Given the description of an element on the screen output the (x, y) to click on. 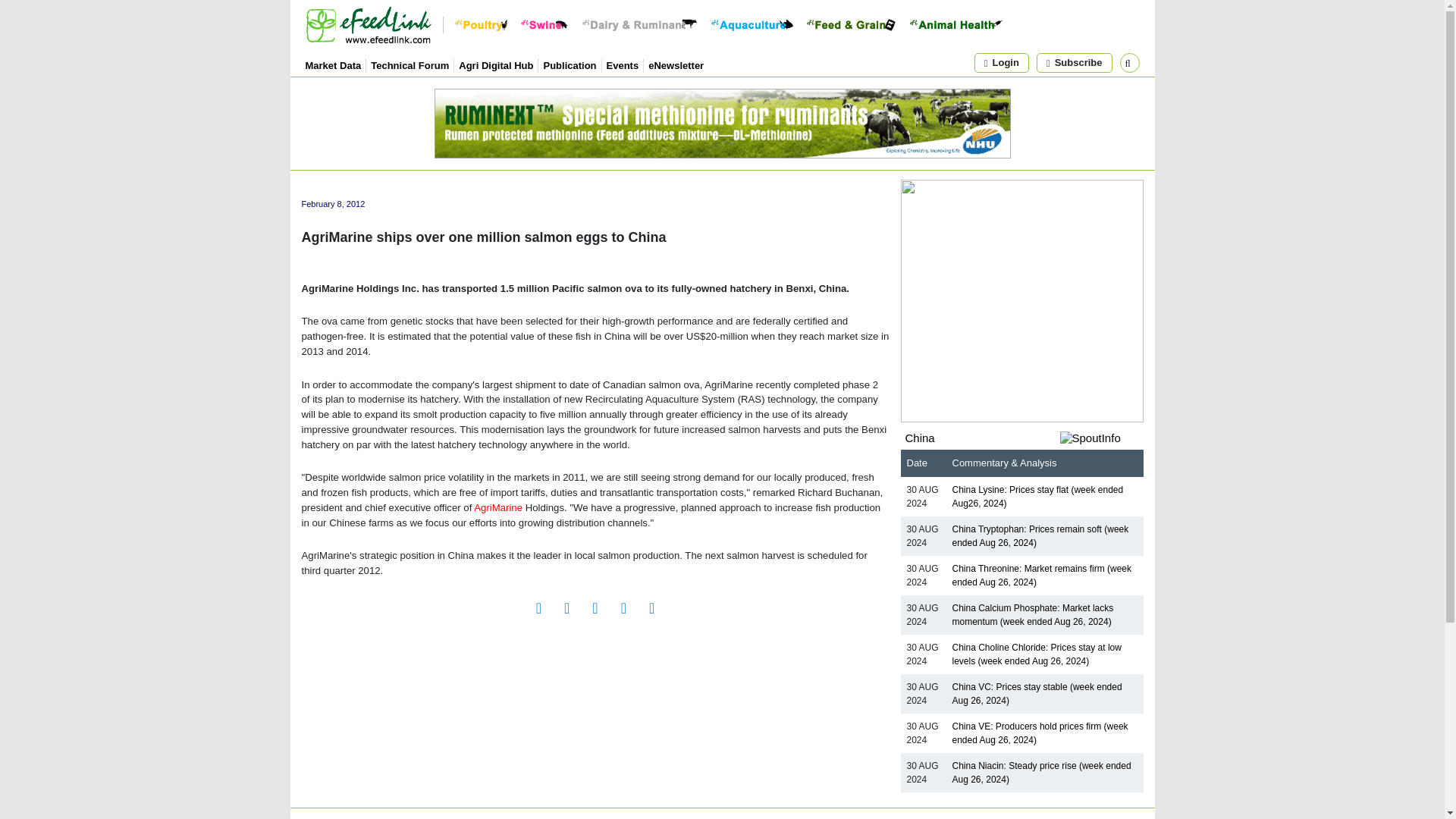
Back to eFeedLink Homepage (367, 24)
Aquaculture (752, 24)
Agri Digital Hub (495, 64)
AgriMarine (498, 507)
Events (623, 64)
China (919, 437)
eNewsletter (675, 64)
Animal Health (956, 24)
SpoutInfo (1100, 438)
Poultry (480, 24)
